Given the description of an element on the screen output the (x, y) to click on. 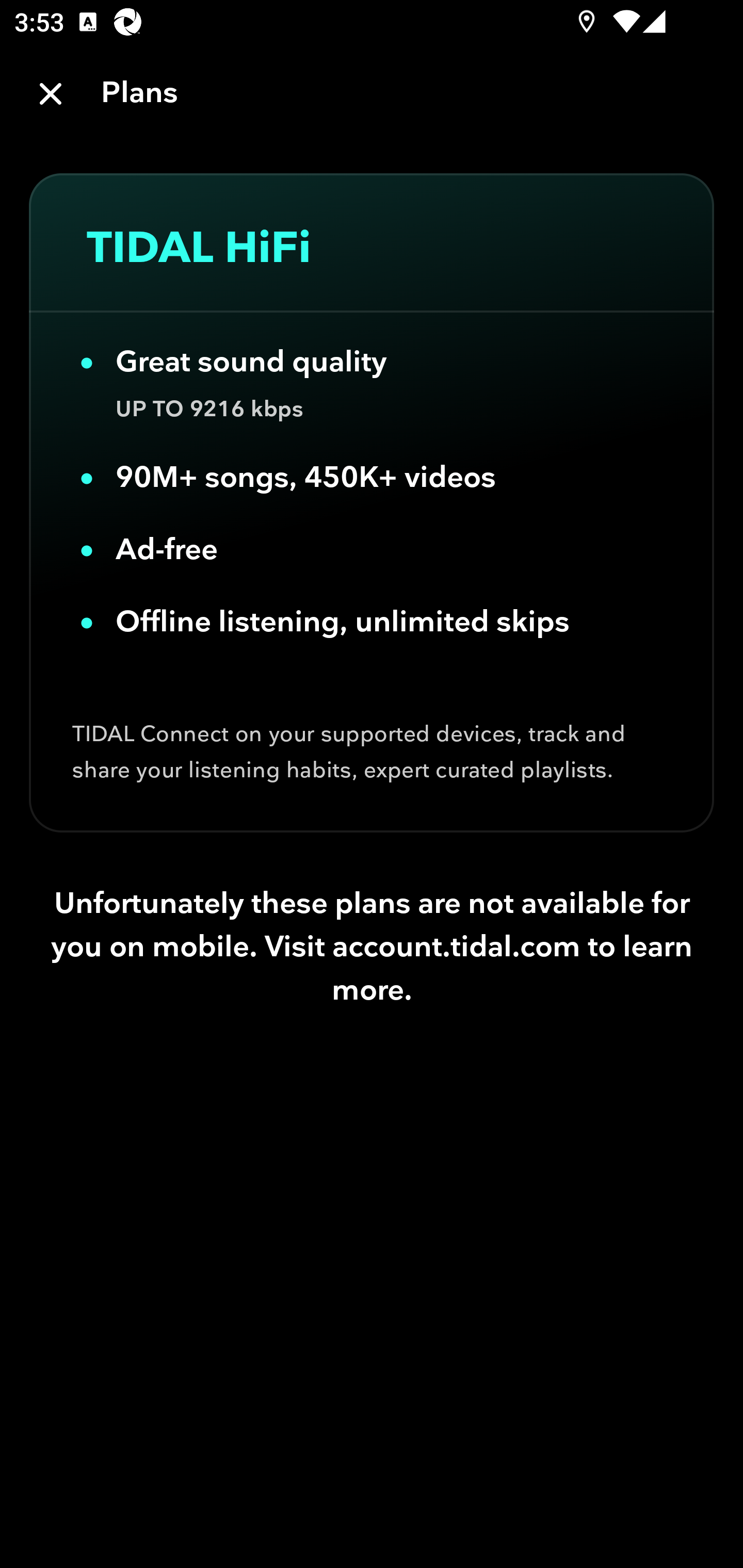
Close (50, 93)
